Given the description of an element on the screen output the (x, y) to click on. 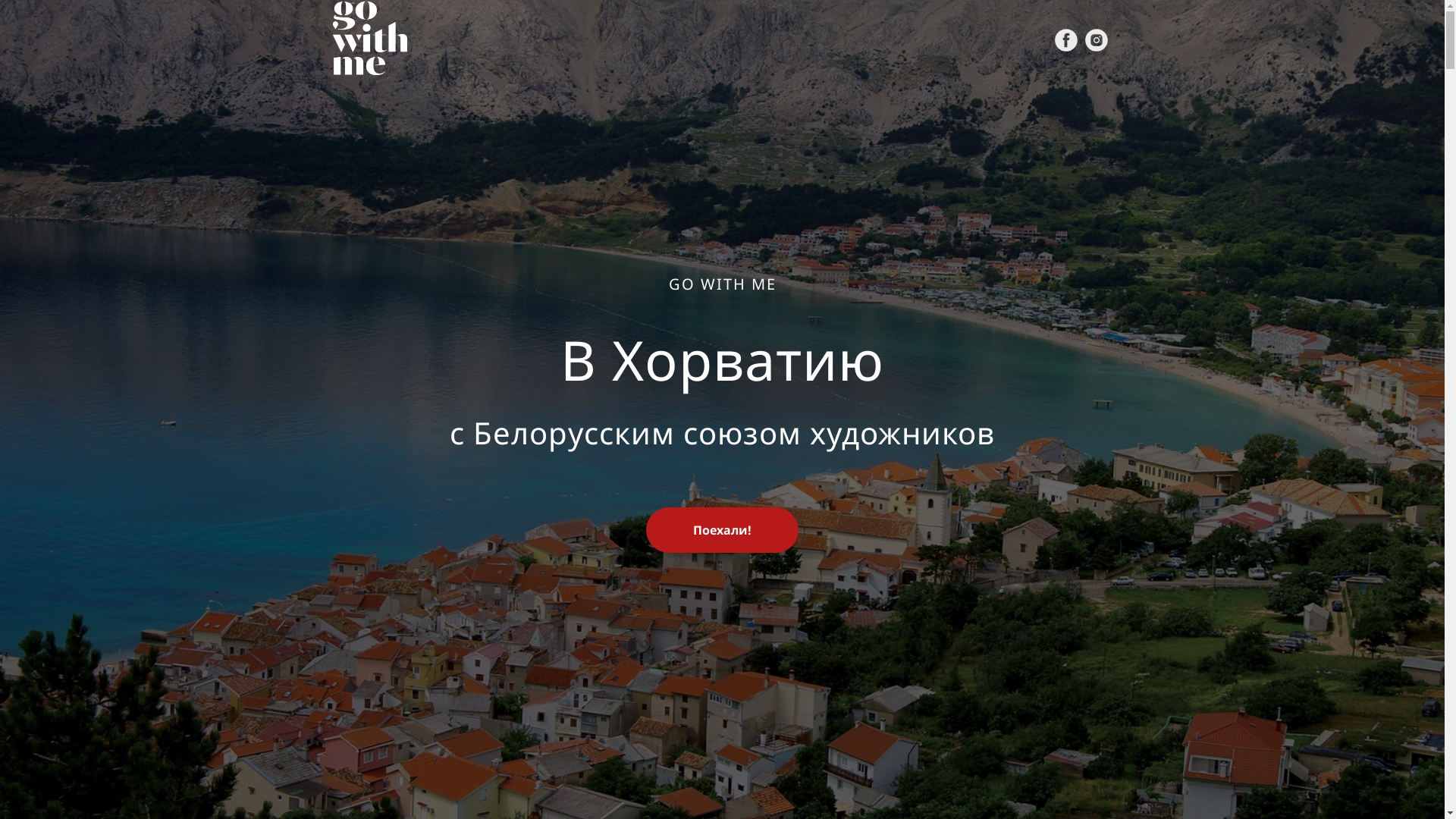
Instagram Element type: text (1096, 39)
